Given the description of an element on the screen output the (x, y) to click on. 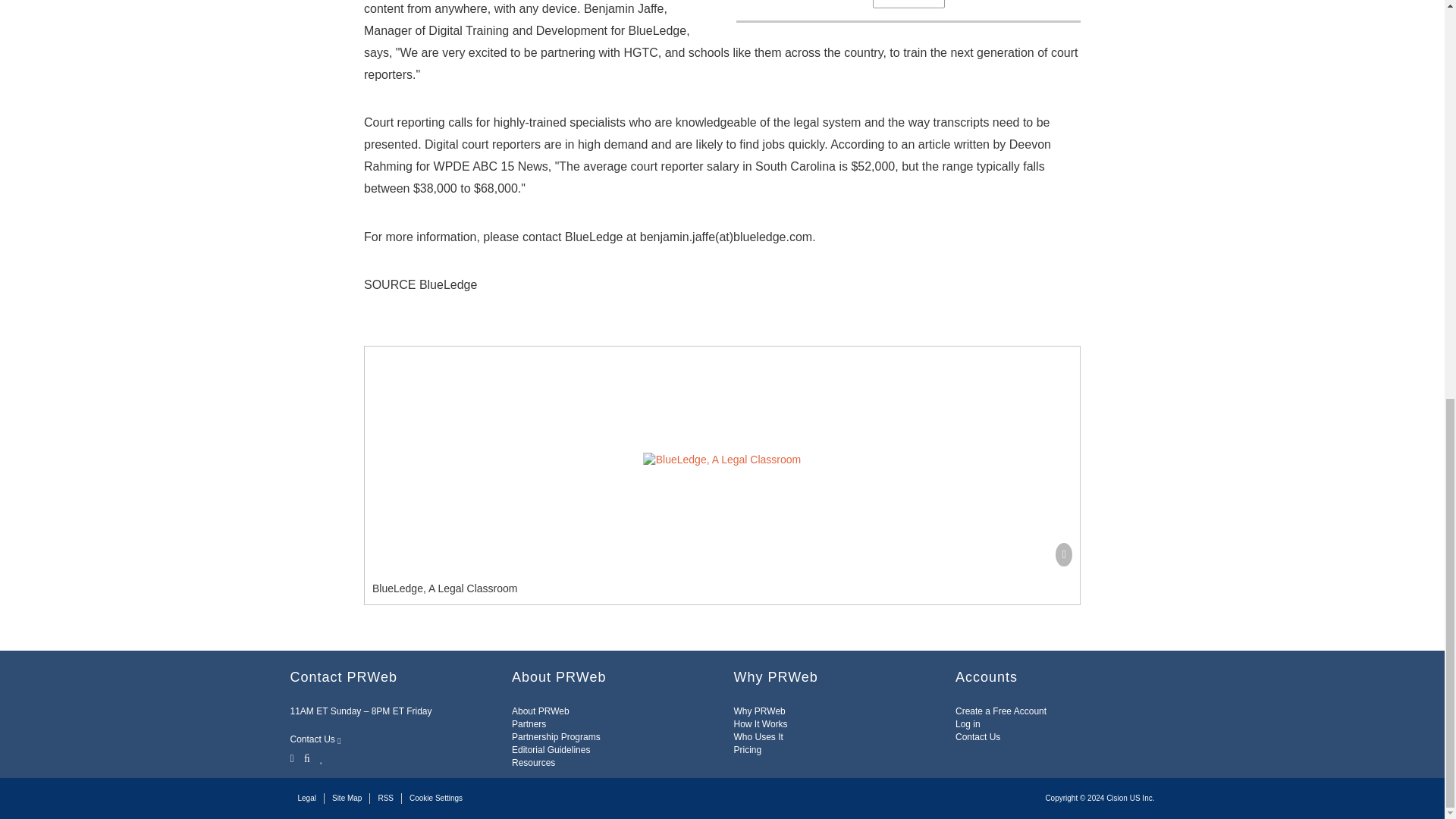
Partners (529, 724)
Partnership Programs (555, 737)
About PRWeb (540, 710)
Who Uses It (758, 737)
Facebook (306, 757)
Why PRWeb (759, 710)
How It Works (760, 724)
Editorial Guidelines (550, 749)
Resources (533, 762)
